Given the description of an element on the screen output the (x, y) to click on. 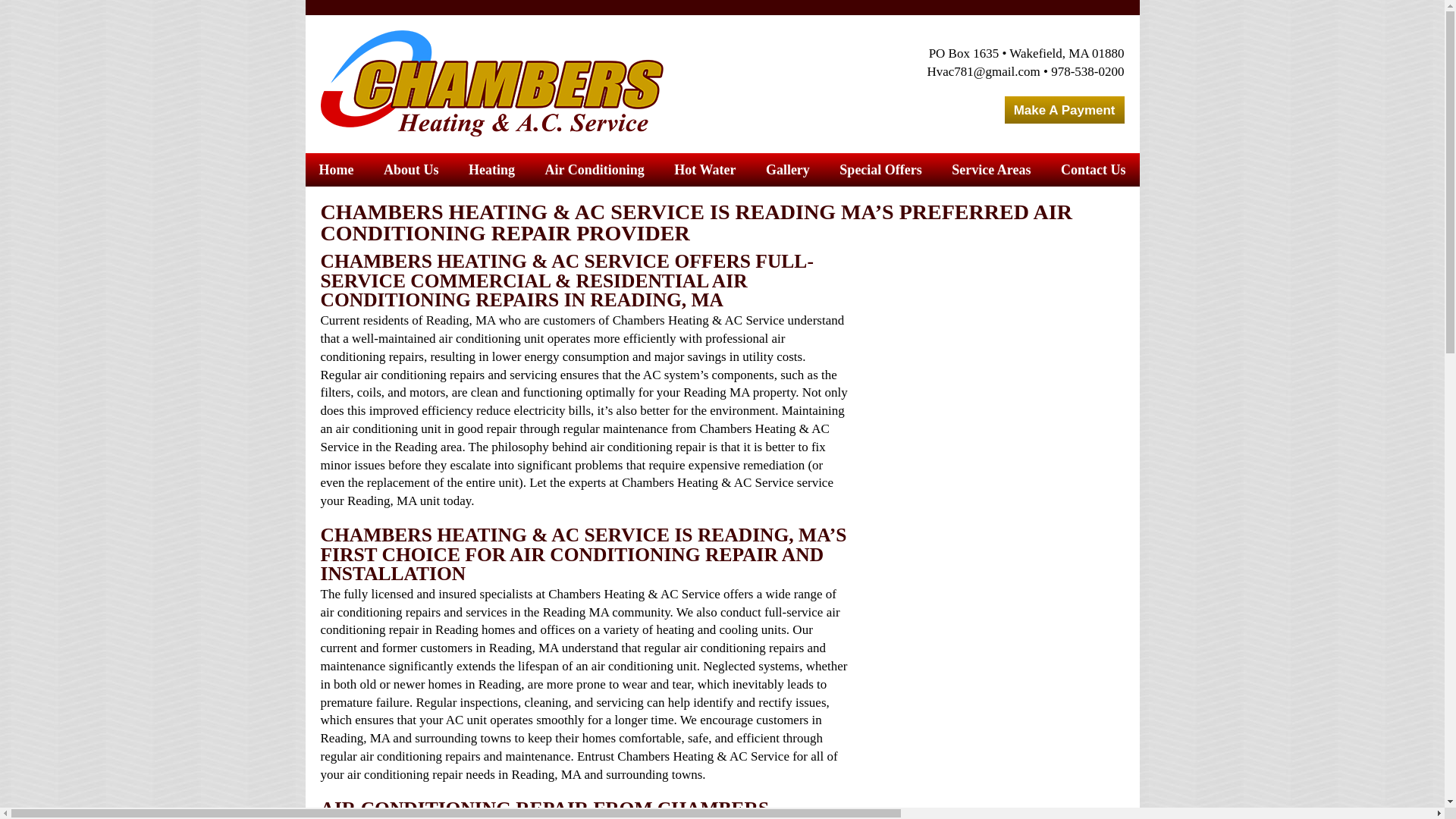
Gallery (787, 169)
Service Areas (990, 169)
Make A Payment (1064, 110)
Heating (491, 169)
About Us (410, 169)
Home (336, 169)
Hot Water (704, 169)
978-538-0200 (1087, 71)
Special Offers (879, 169)
Contact Us (1093, 169)
